Given the description of an element on the screen output the (x, y) to click on. 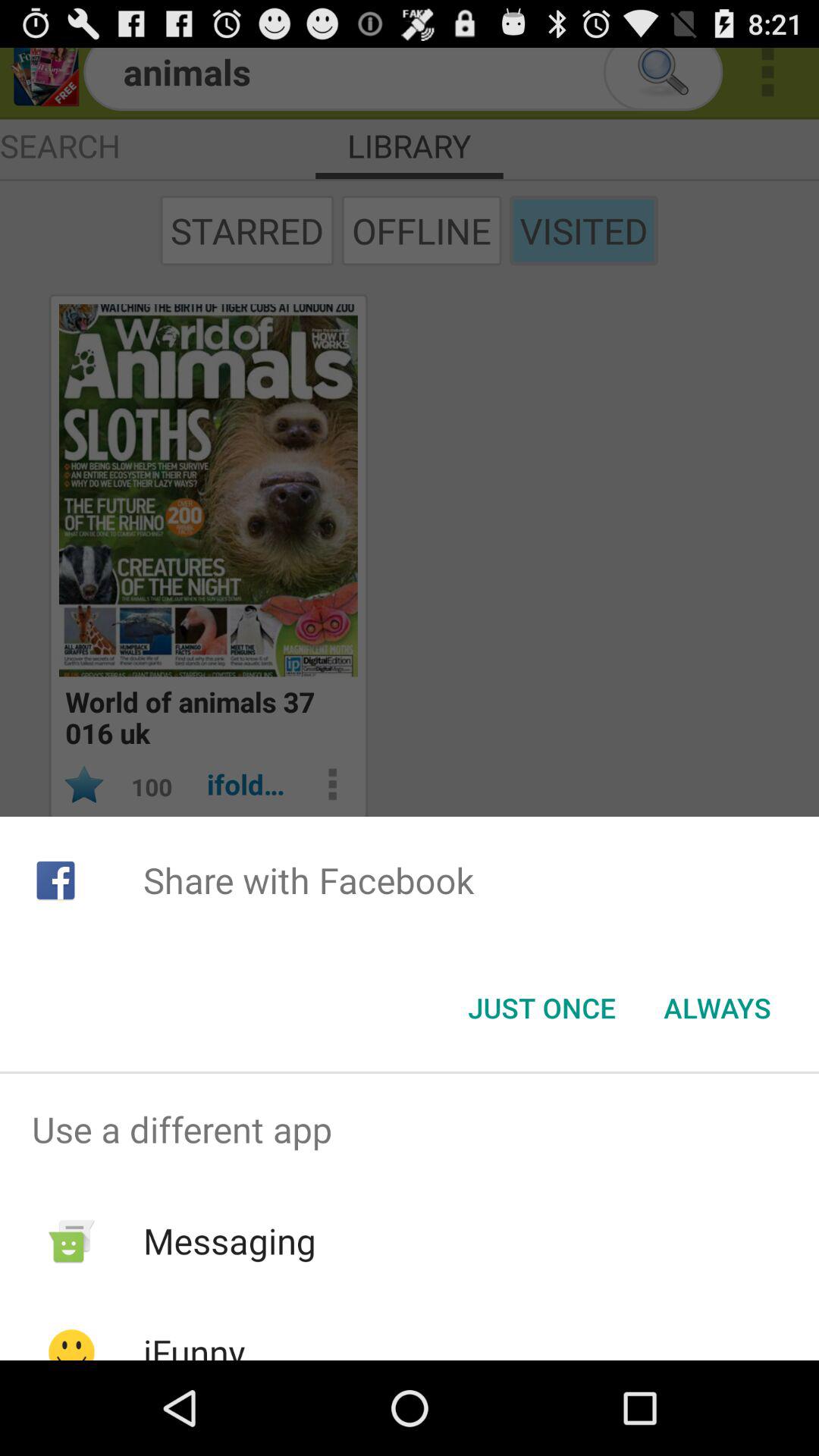
swipe to use a different app (409, 1129)
